Given the description of an element on the screen output the (x, y) to click on. 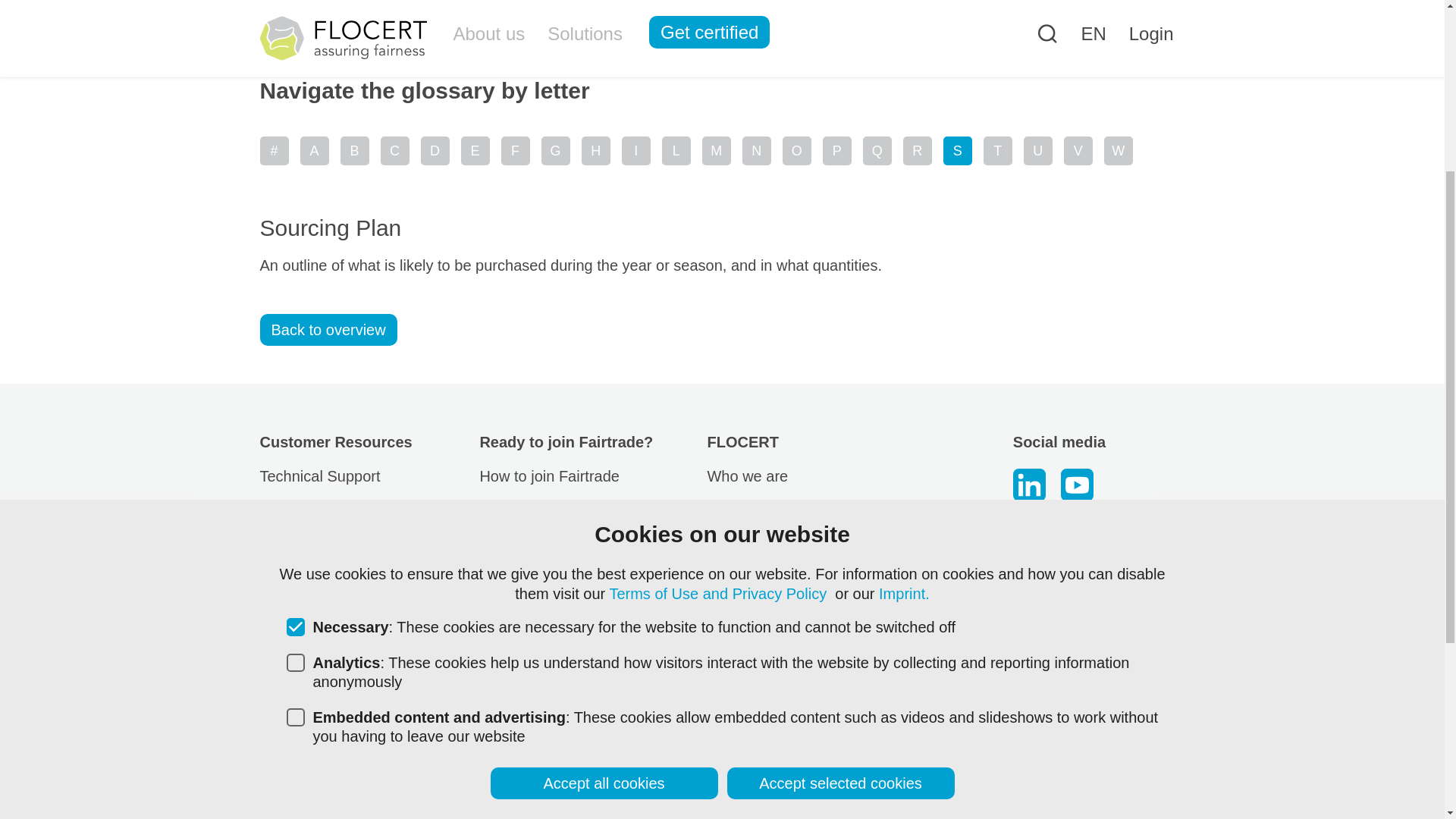
YouTube Icon (1077, 484)
LinkedIn Icon (1029, 484)
